Given the description of an element on the screen output the (x, y) to click on. 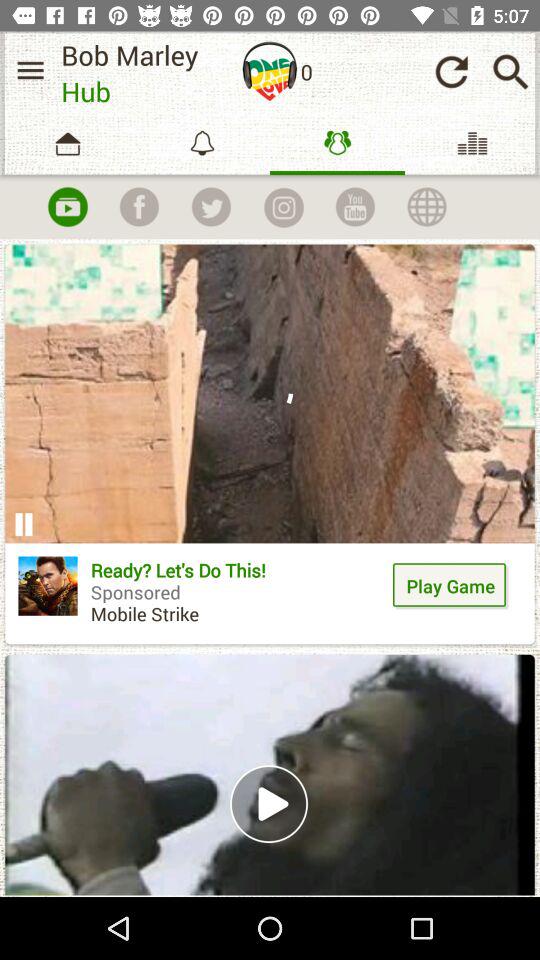
twitter button (211, 207)
